Given the description of an element on the screen output the (x, y) to click on. 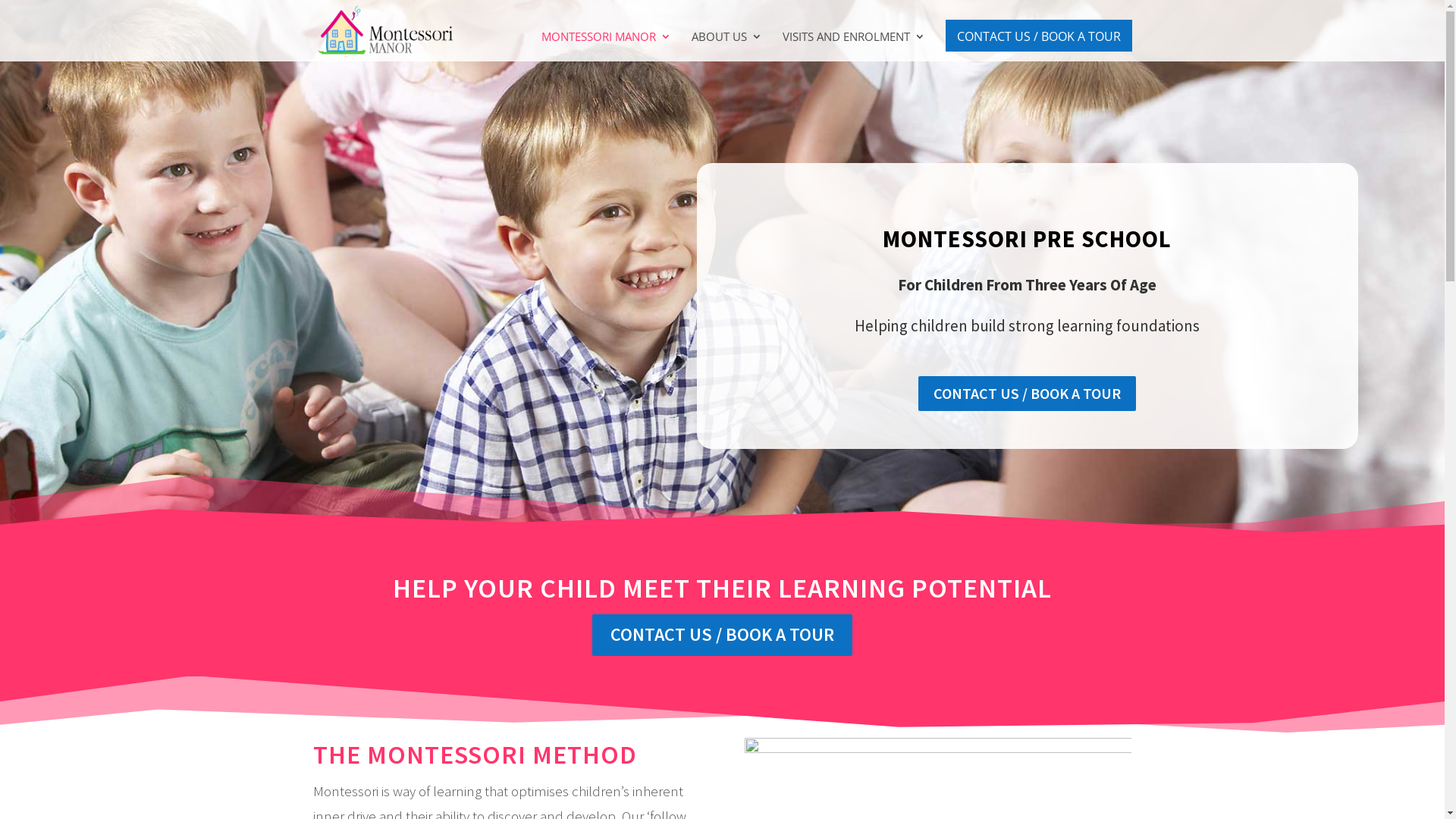
MONTESSORI PRE SCHOOL Element type: text (1026, 238)
CONTACT US / BOOK A TOUR Element type: text (722, 634)
CONTACT US / BOOK A TOUR Element type: text (1026, 393)
VISITS AND ENROLMENT Element type: text (853, 46)
CONTACT US / BOOK A TOUR Element type: text (1037, 35)
ABOUT US Element type: text (726, 46)
MONTESSORI MANOR Element type: text (606, 46)
